Given the description of an element on the screen output the (x, y) to click on. 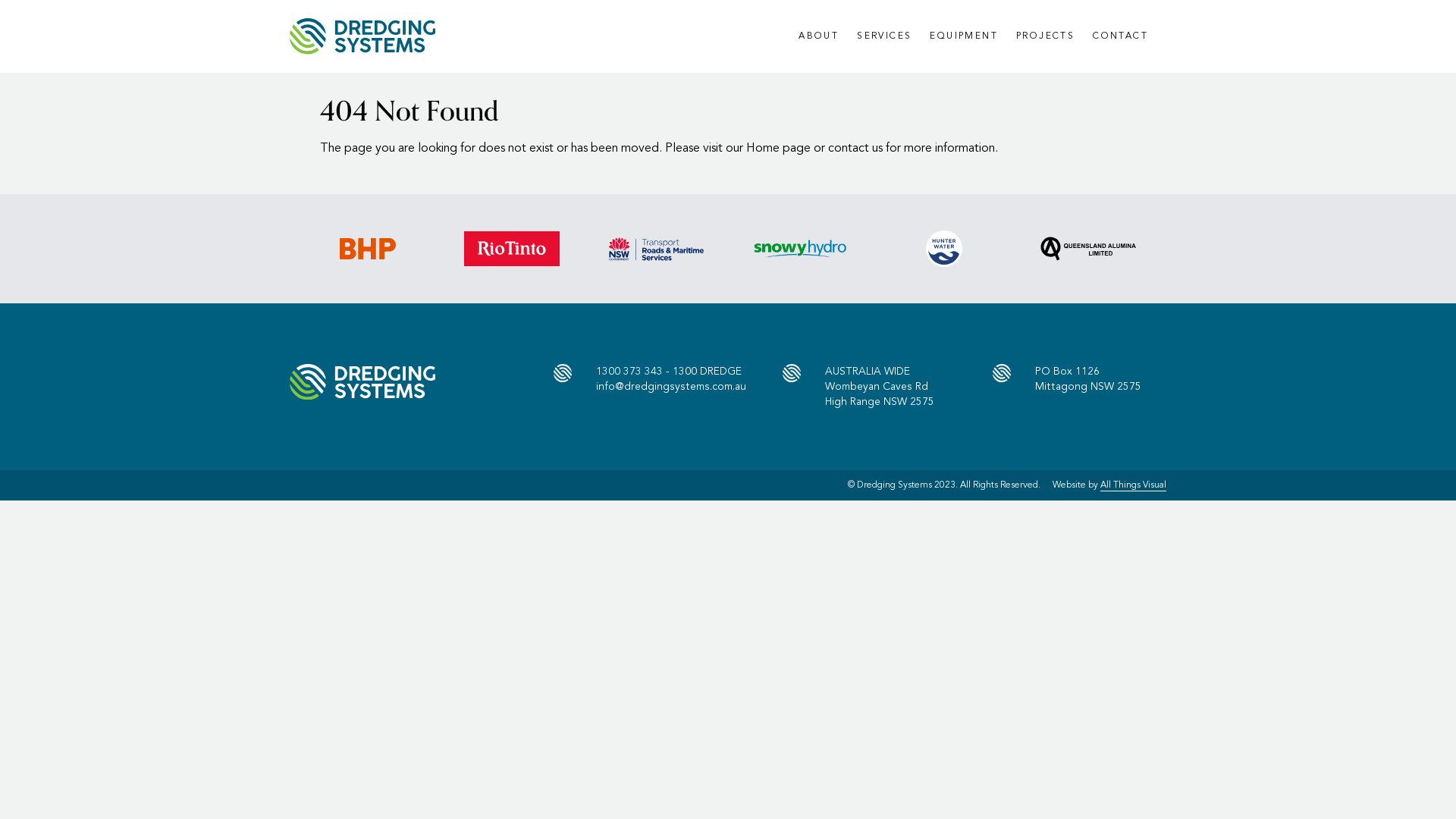
info@dredgingsystems.com.au Element type: text (671, 386)
contact us Element type: text (855, 148)
PROJECTS Element type: text (1045, 36)
CONTACT Element type: text (1120, 36)
Home page Element type: text (778, 148)
SERVICES Element type: text (883, 36)
1300 373 343 - 1300 DREDGE Element type: text (668, 371)
ABOUT Element type: text (818, 36)
EQUIPMENT Element type: text (963, 36)
All Things Visual Element type: text (1133, 484)
